Given the description of an element on the screen output the (x, y) to click on. 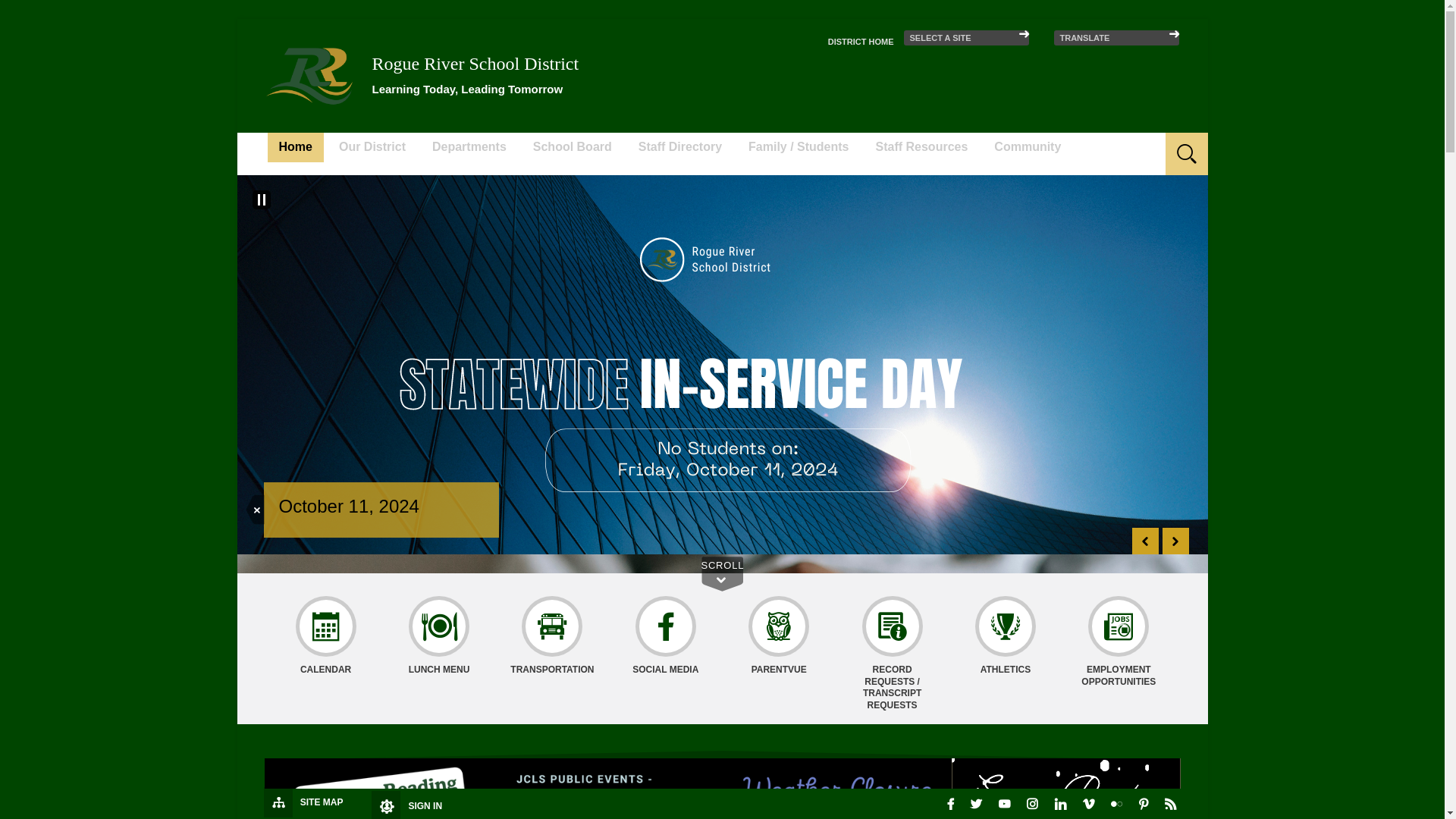
Return to the homepage on the district site. (860, 41)
Search Term (1123, 143)
Rogue River School District (309, 75)
DISTRICT HOME (860, 41)
SCROLL (721, 565)
Search this site (1123, 143)
